Given the description of an element on the screen output the (x, y) to click on. 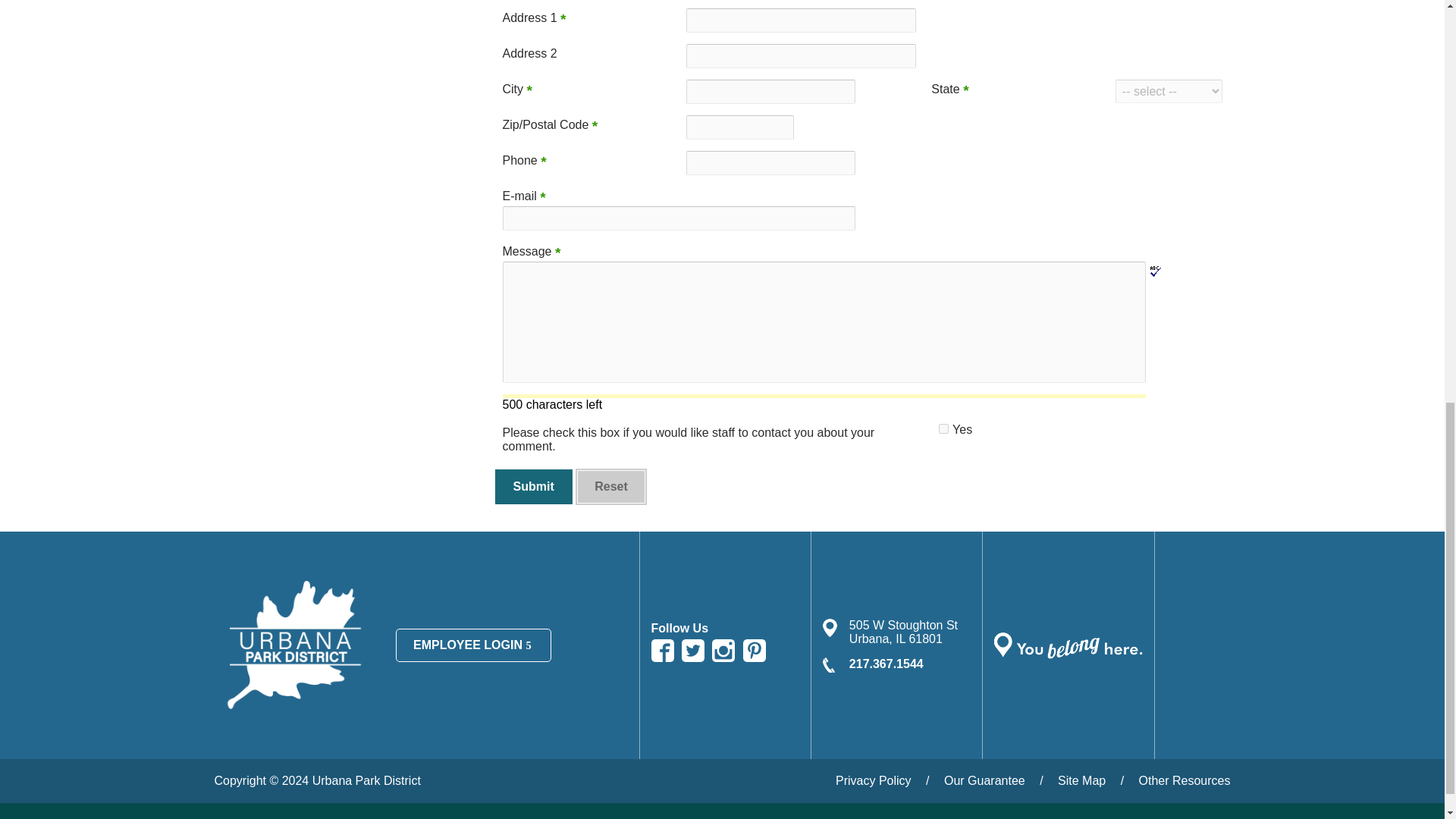
Submit (533, 486)
Reset (610, 486)
Yes (944, 429)
